Given the description of an element on the screen output the (x, y) to click on. 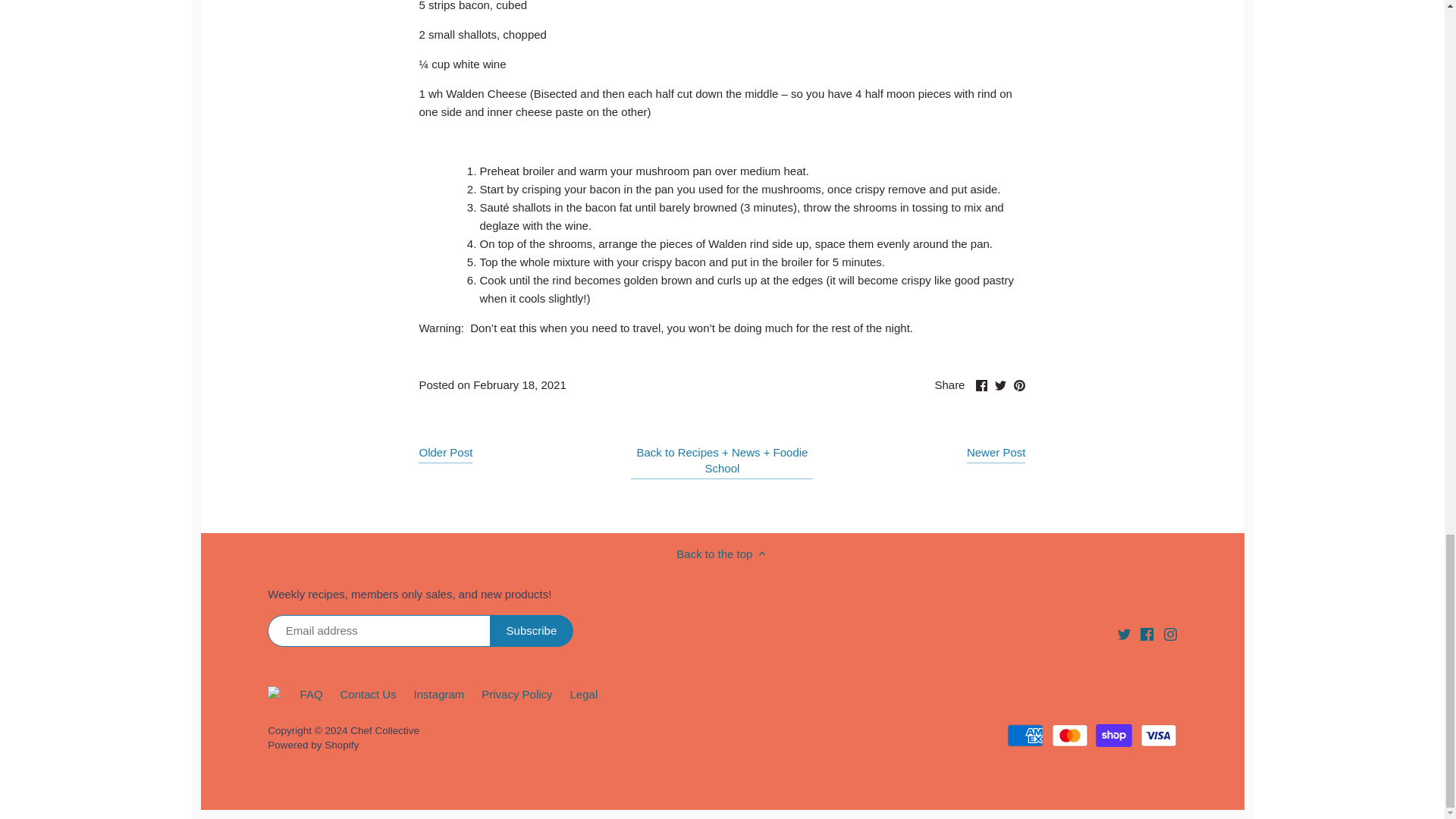
Twitter (1124, 634)
Instagram (1169, 632)
Facebook (1146, 634)
Twitter (1000, 385)
Instagram (1169, 634)
Facebook (1146, 632)
Legal (584, 694)
Facebook (1019, 383)
Chef Collective (981, 385)
American Express (384, 730)
Twitter (1025, 734)
Visa (1124, 632)
Back to the top (1158, 734)
